Given the description of an element on the screen output the (x, y) to click on. 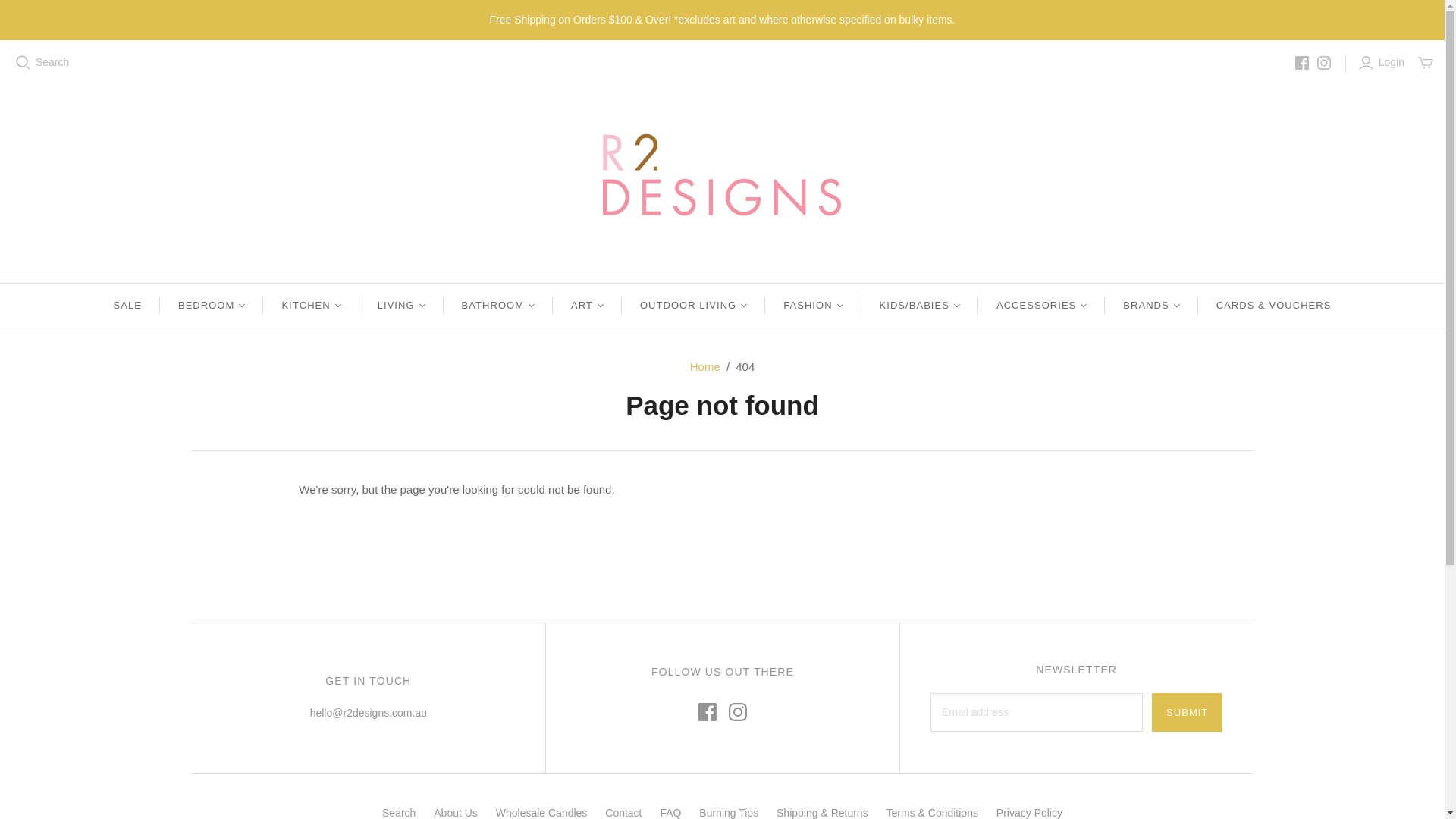
Instagram Icon (737, 711)
Login (1383, 62)
KITCHEN (310, 305)
Submit (1187, 712)
Facebook Icon (707, 711)
LIVING (401, 305)
BEDROOM (211, 305)
SALE (128, 305)
